Given the description of an element on the screen output the (x, y) to click on. 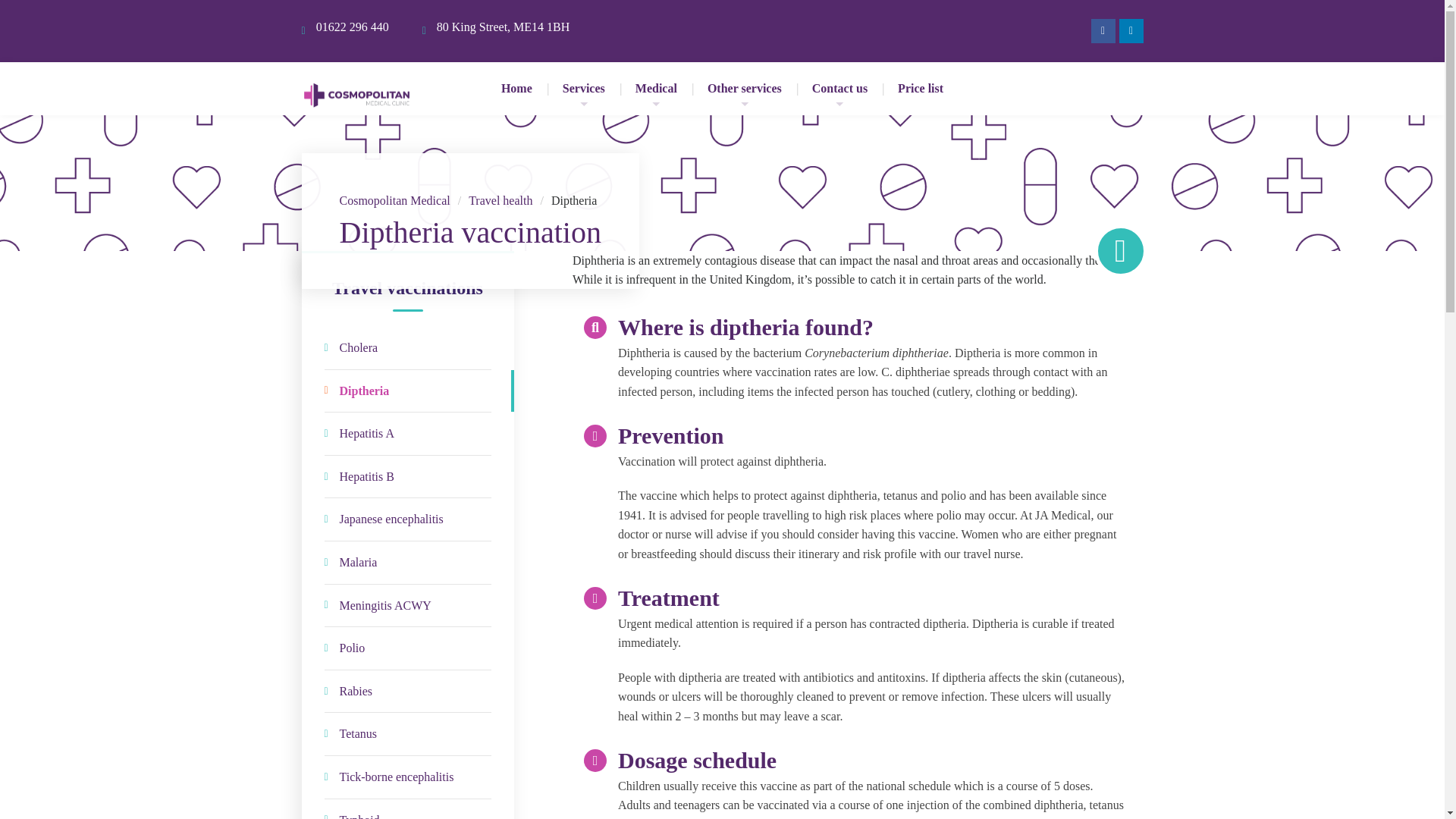
Contact us (839, 88)
Go to Travel health. (500, 200)
01622 296 440 (351, 30)
Go to Cosmopolitan Medical. (394, 200)
80 King Street, ME14 1BH (503, 30)
Other services (744, 88)
